Given the description of an element on the screen output the (x, y) to click on. 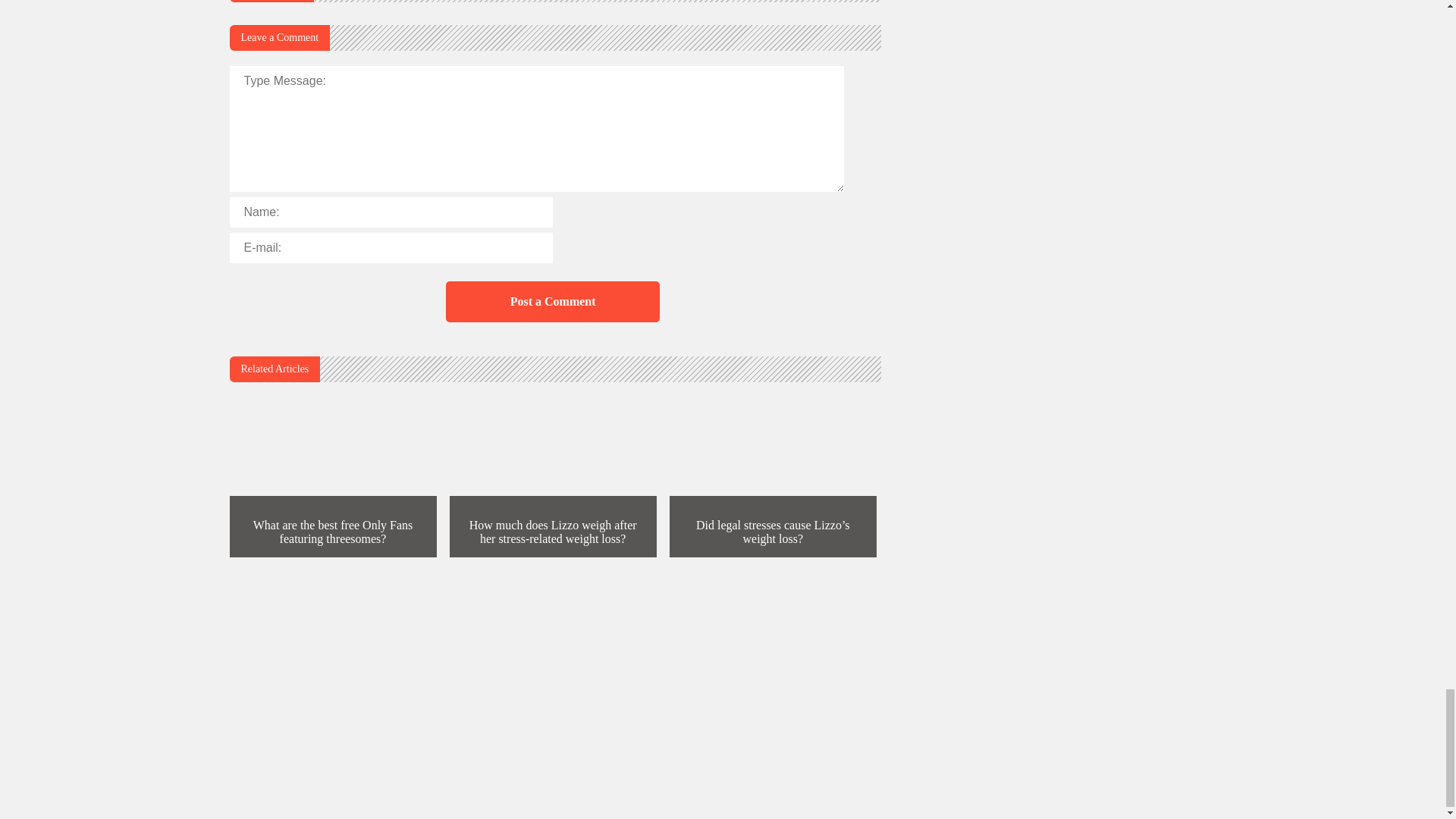
Post a Comment (552, 301)
